Given the description of an element on the screen output the (x, y) to click on. 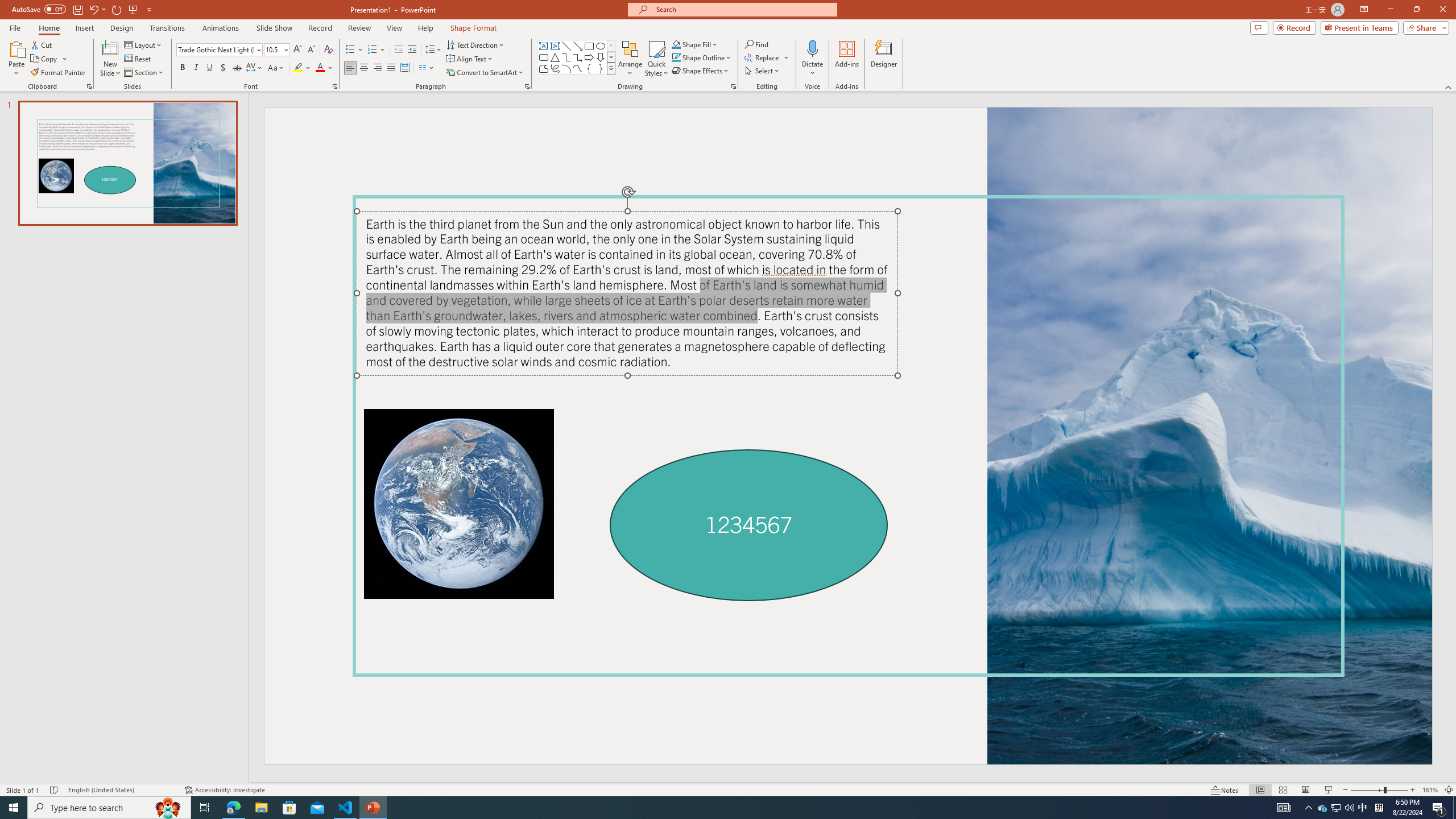
Shape Fill Aqua, Accent 2 (675, 44)
